Given the description of an element on the screen output the (x, y) to click on. 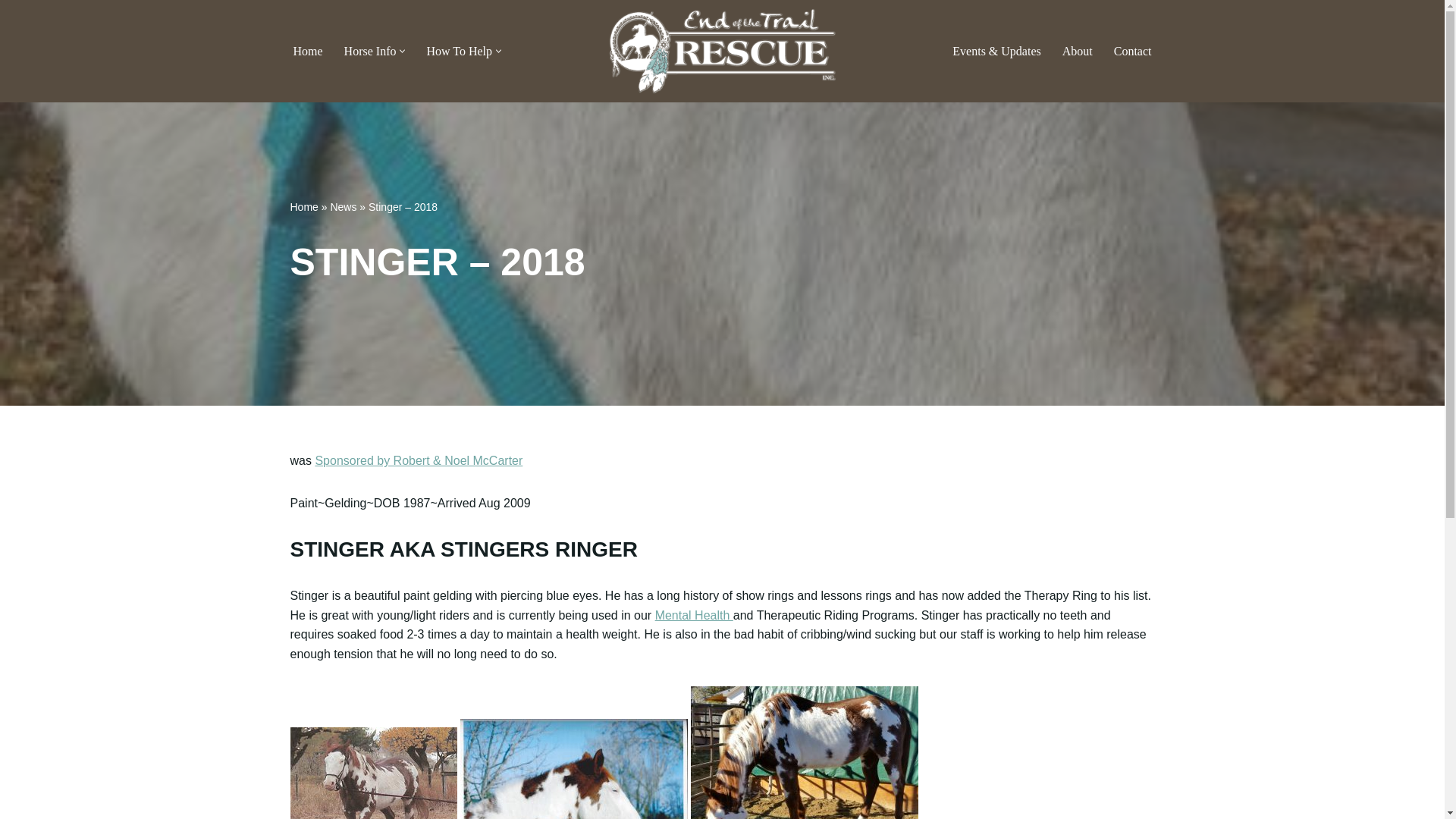
Horse Info (369, 50)
How To Help (459, 50)
Contact (1132, 50)
Skip to content (11, 31)
Home (306, 50)
About (1077, 50)
